Given the description of an element on the screen output the (x, y) to click on. 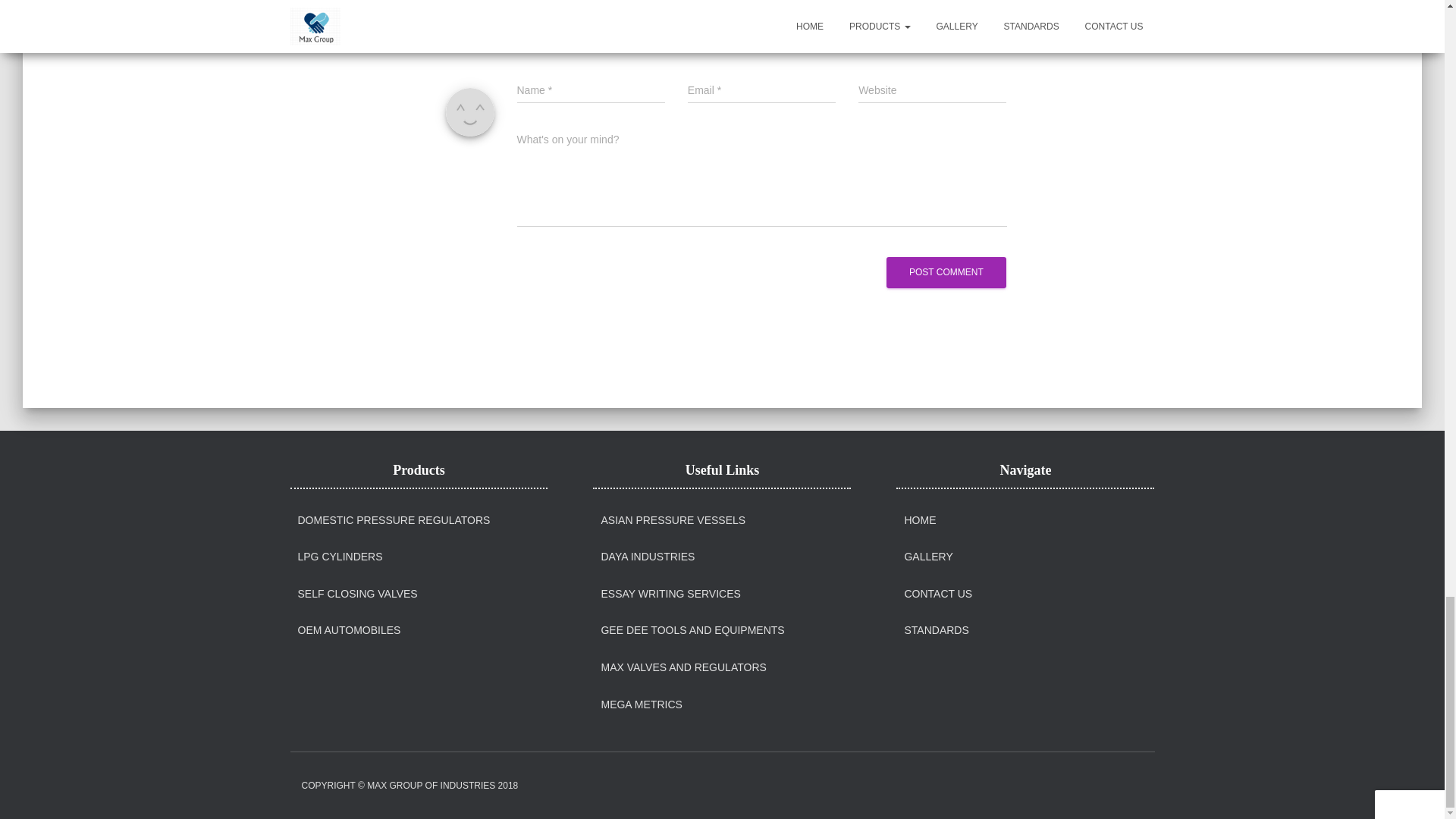
DOMESTIC PRESSURE REGULATORS (393, 520)
MEGA METRICS (640, 704)
STANDARDS (936, 630)
GALLERY (928, 557)
GEE DEE TOOLS AND EQUIPMENTS (691, 630)
LPG CYLINDERS (339, 557)
Post Comment (946, 272)
DAYA INDUSTRIES (646, 557)
Post Comment (946, 272)
SELF CLOSING VALVES (356, 594)
MAX VALVES AND REGULATORS (682, 667)
CONTACT US (938, 594)
OEM AUTOMOBILES (348, 630)
ESSAY WRITING SERVICES (669, 594)
ASIAN PRESSURE VESSELS (672, 520)
